Given the description of an element on the screen output the (x, y) to click on. 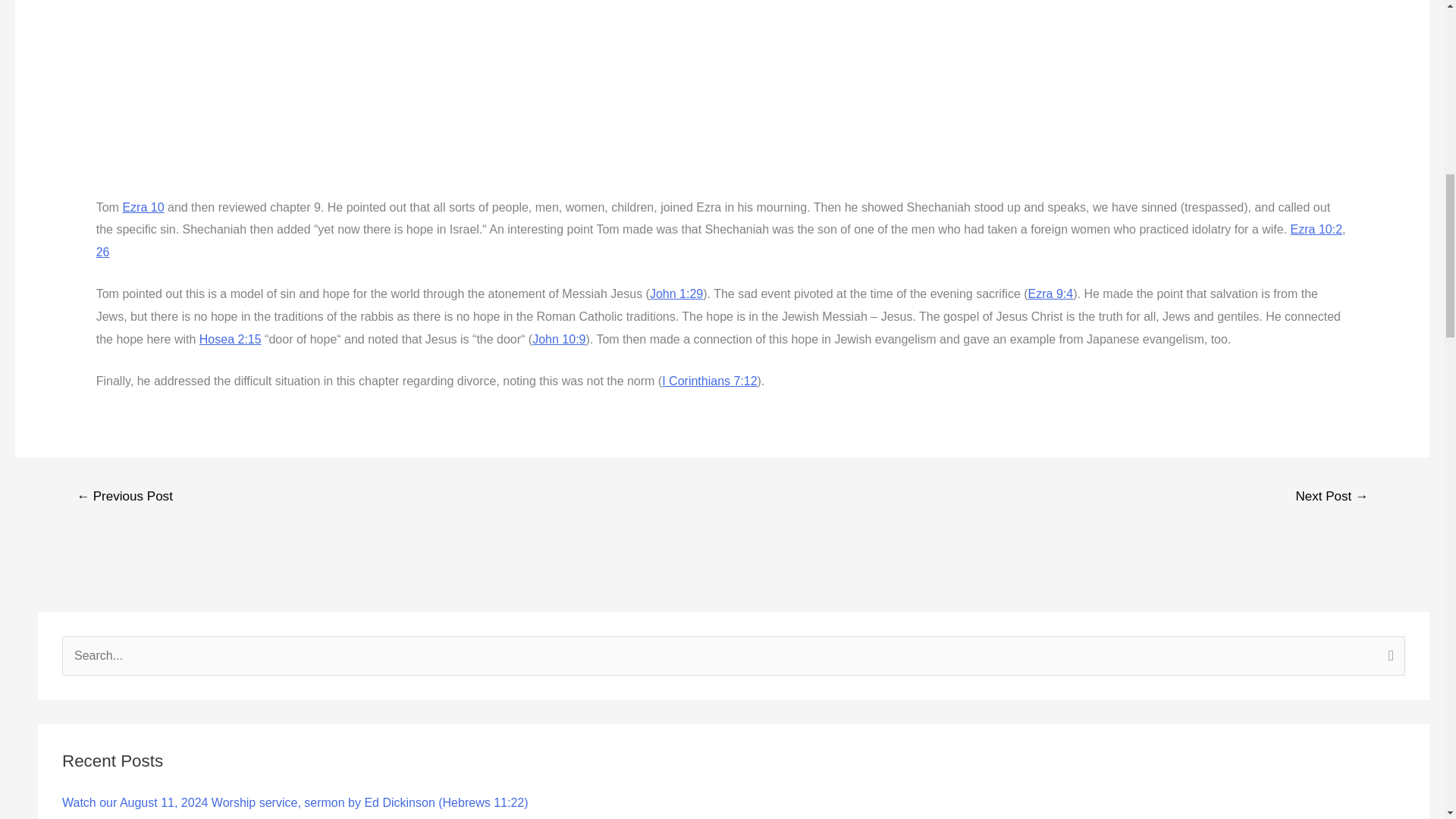
Ezra 9:4 (1050, 293)
I Corinthians 7:12 (709, 380)
Ezra 10 (142, 206)
Hosea 2:15 (230, 338)
26 (103, 251)
John 1:29 (676, 293)
John 10:9 (558, 338)
Ezra 10:2 (1316, 228)
